Given the description of an element on the screen output the (x, y) to click on. 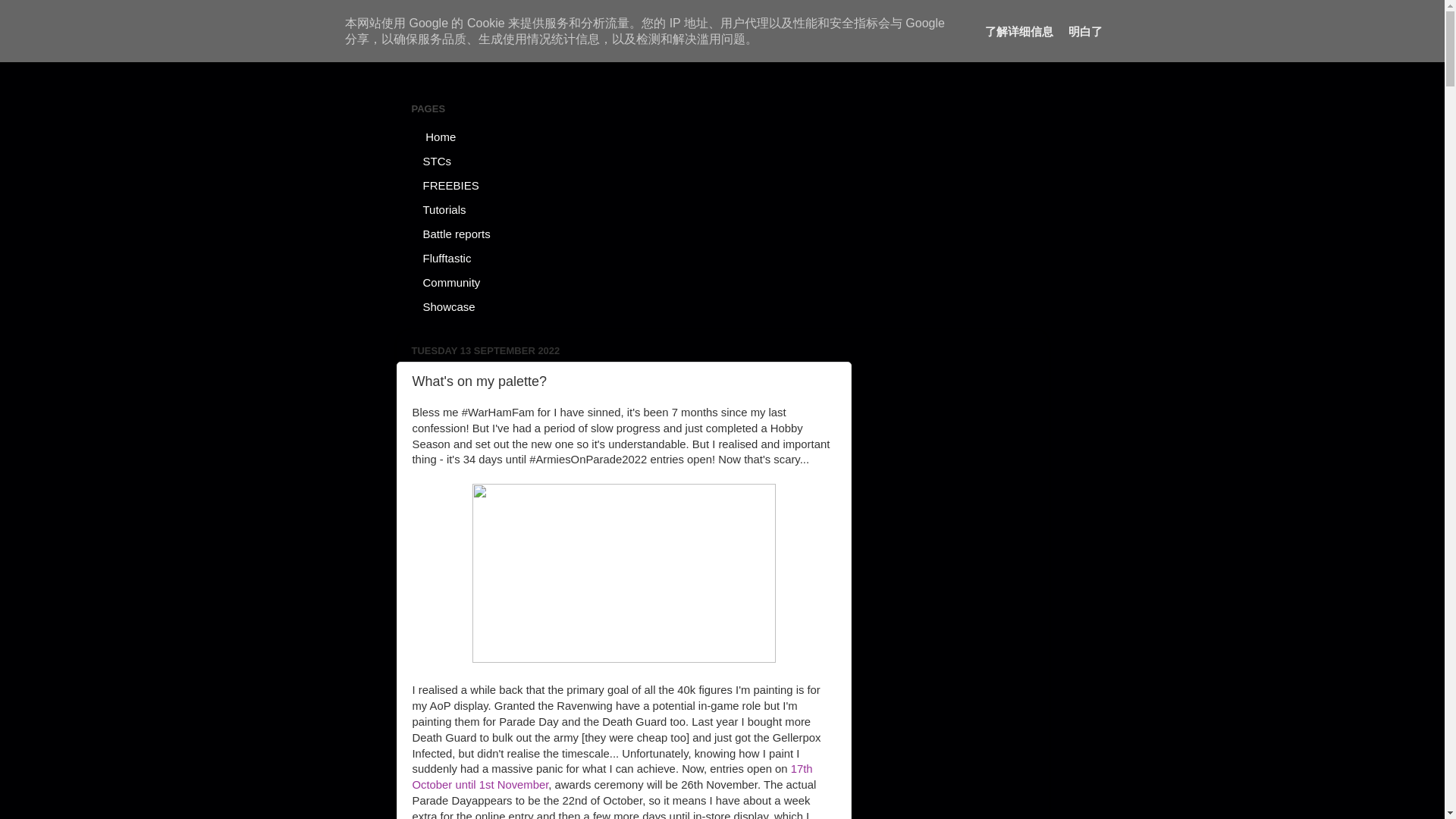
STCs (436, 160)
Tutorials (443, 209)
Home (438, 136)
Showcase (448, 306)
17th October until 1st November (612, 776)
FREEBIES (450, 184)
Battle reports (456, 233)
Flufftastic (446, 257)
Community (451, 282)
